Given the description of an element on the screen output the (x, y) to click on. 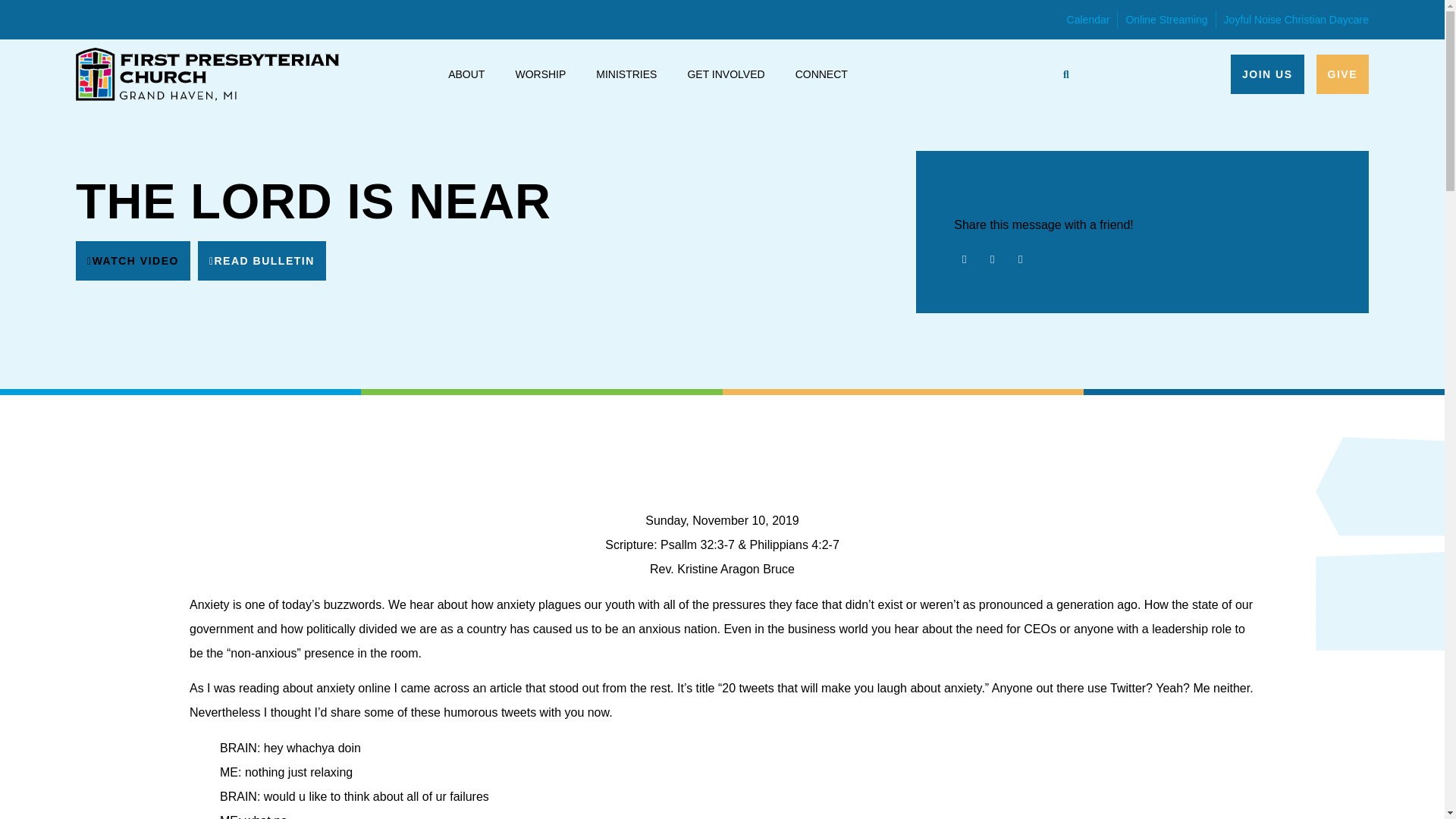
Calendar (1088, 19)
ABOUT (466, 74)
Joyful Noise Christian Daycare (1296, 19)
GET INVOLVED (725, 74)
MINISTRIES (625, 74)
WORSHIP (539, 74)
CONNECT (821, 74)
Online Streaming (1166, 19)
